Given the description of an element on the screen output the (x, y) to click on. 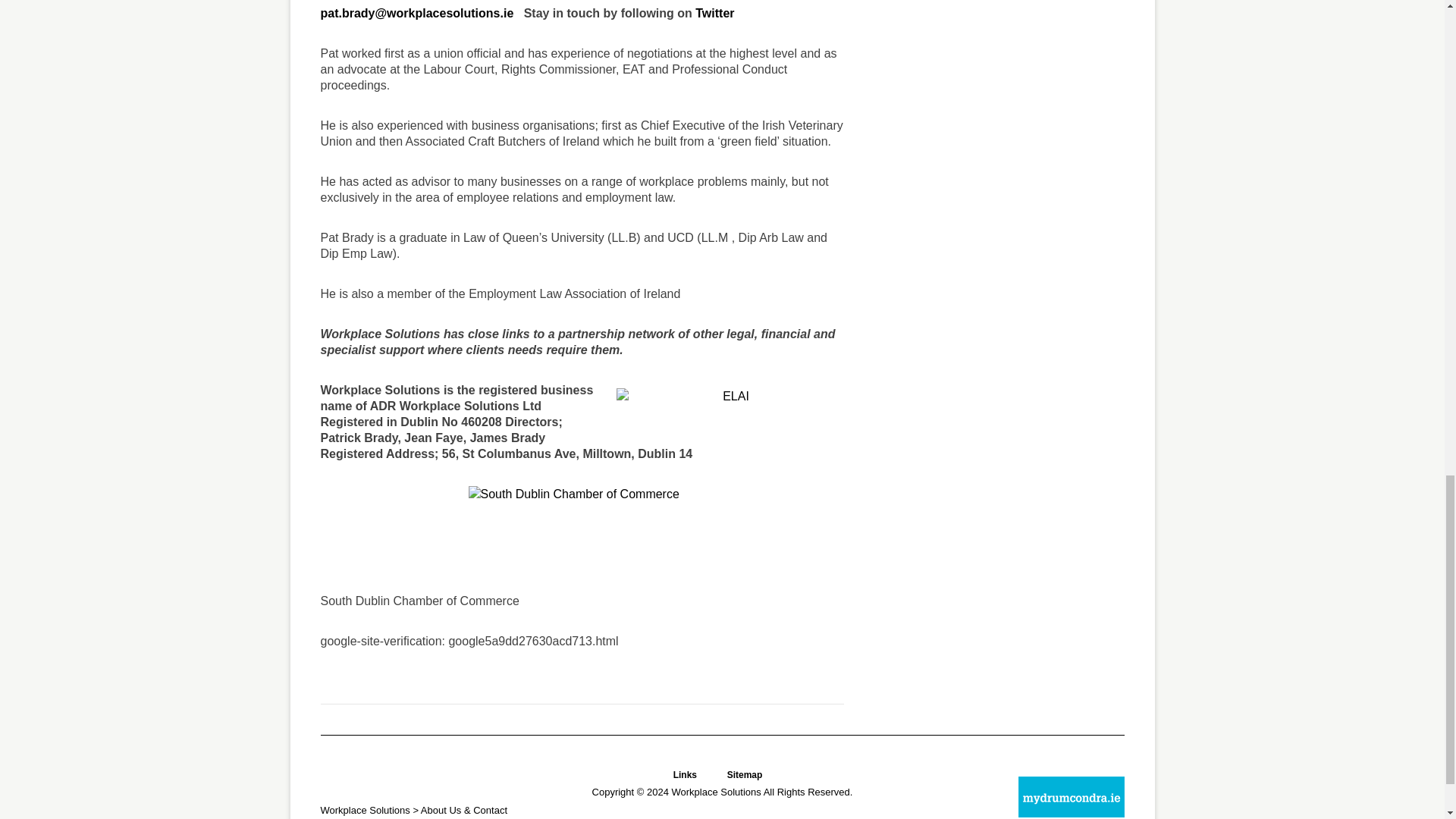
Twitter (714, 12)
Go to Workplace Solutions. (364, 809)
Workplace Solutions (716, 791)
